Given the description of an element on the screen output the (x, y) to click on. 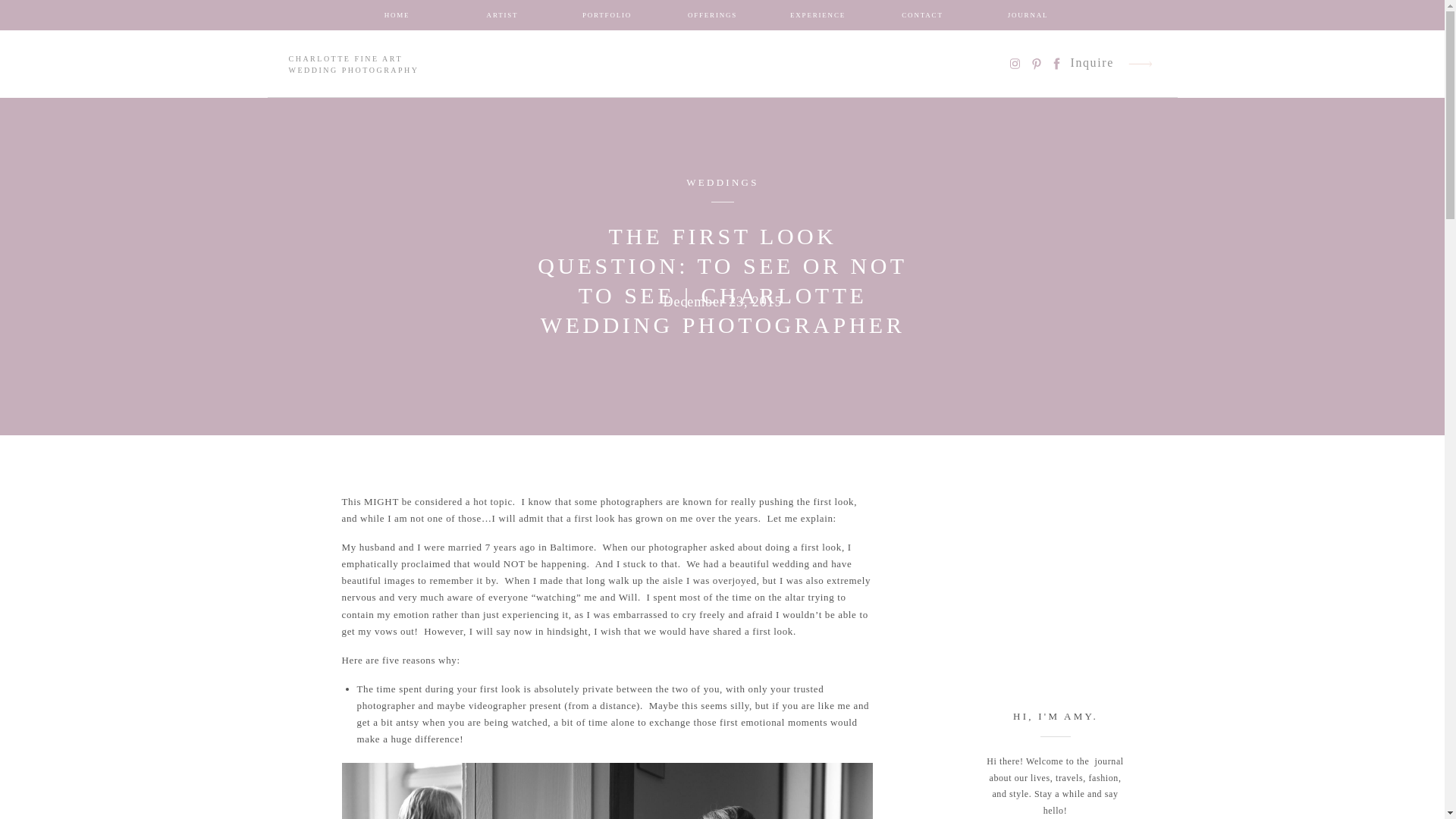
arrow (1140, 63)
JOURNAL (1028, 19)
Inquire  (1092, 64)
EXPERIENCE (817, 19)
ARTIST (502, 19)
CONTACT (922, 19)
WEDDINGS (721, 182)
arrow (1140, 63)
PORTFOLIO (606, 19)
HOME (397, 19)
OFFERINGS (712, 19)
